Given the description of an element on the screen output the (x, y) to click on. 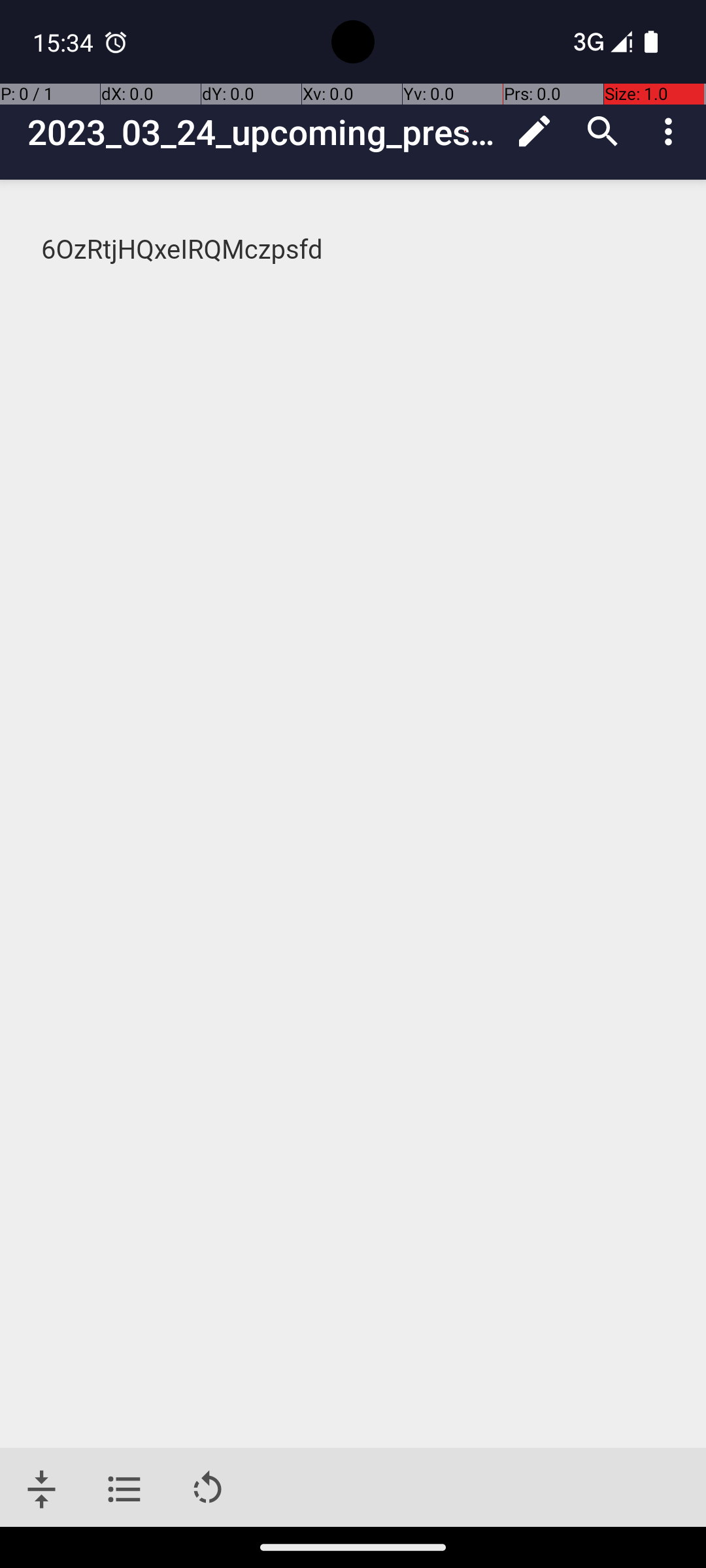
2023_03_24_upcoming_presentation_outline Element type: android.widget.TextView (263, 131)
6OzRtjHQxeIRQMczpsfd Element type: android.widget.TextView (354, 249)
